Given the description of an element on the screen output the (x, y) to click on. 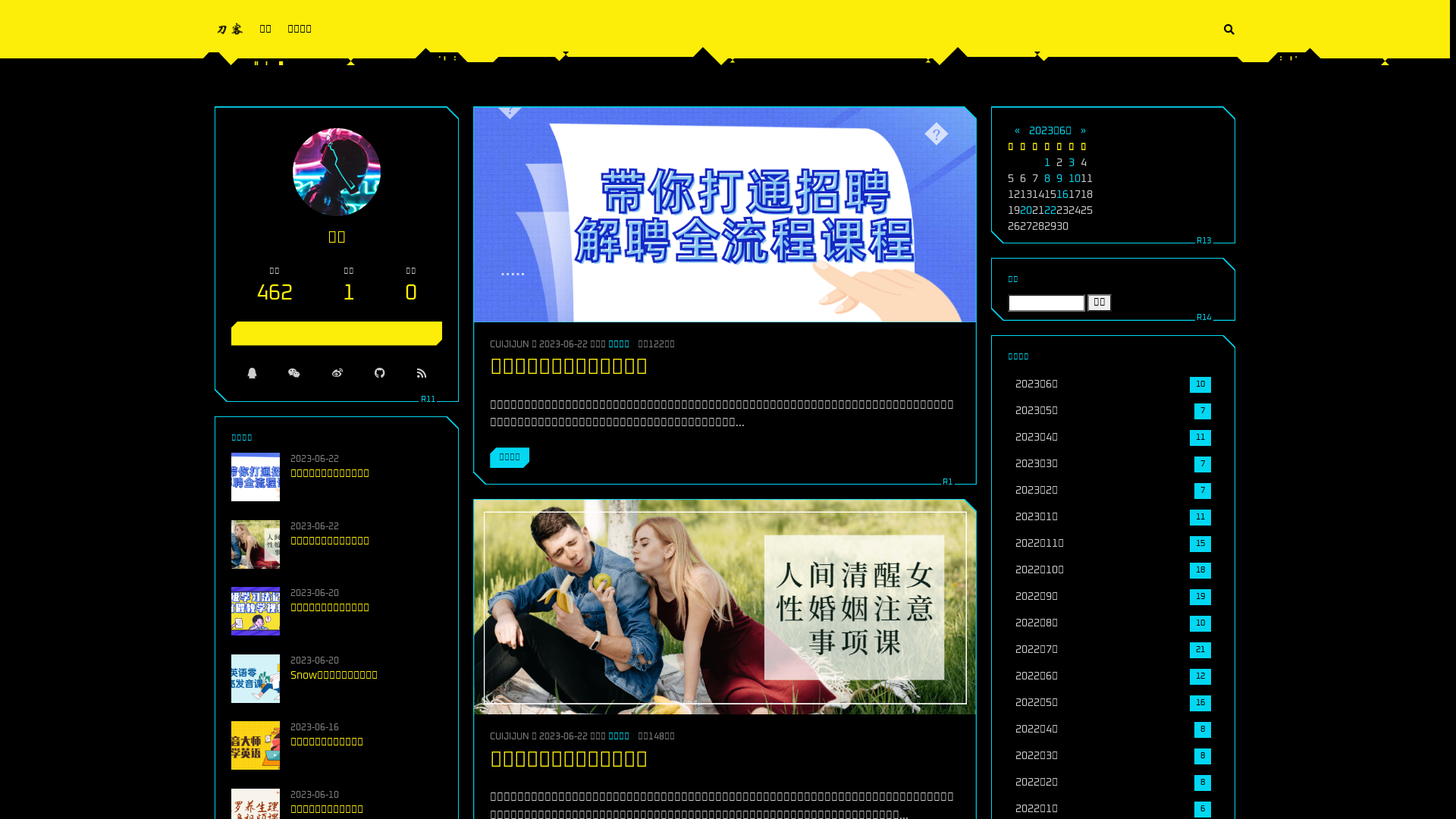
20 Element type: text (1025, 209)
9 Element type: text (1059, 177)
3 Element type: text (1071, 162)
16 Element type: text (1062, 194)
1 Element type: text (1047, 162)
10 Element type: text (1074, 177)
Search Element type: hover (1228, 30)
22 Element type: text (1050, 209)
8 Element type: text (1047, 177)
